Given the description of an element on the screen output the (x, y) to click on. 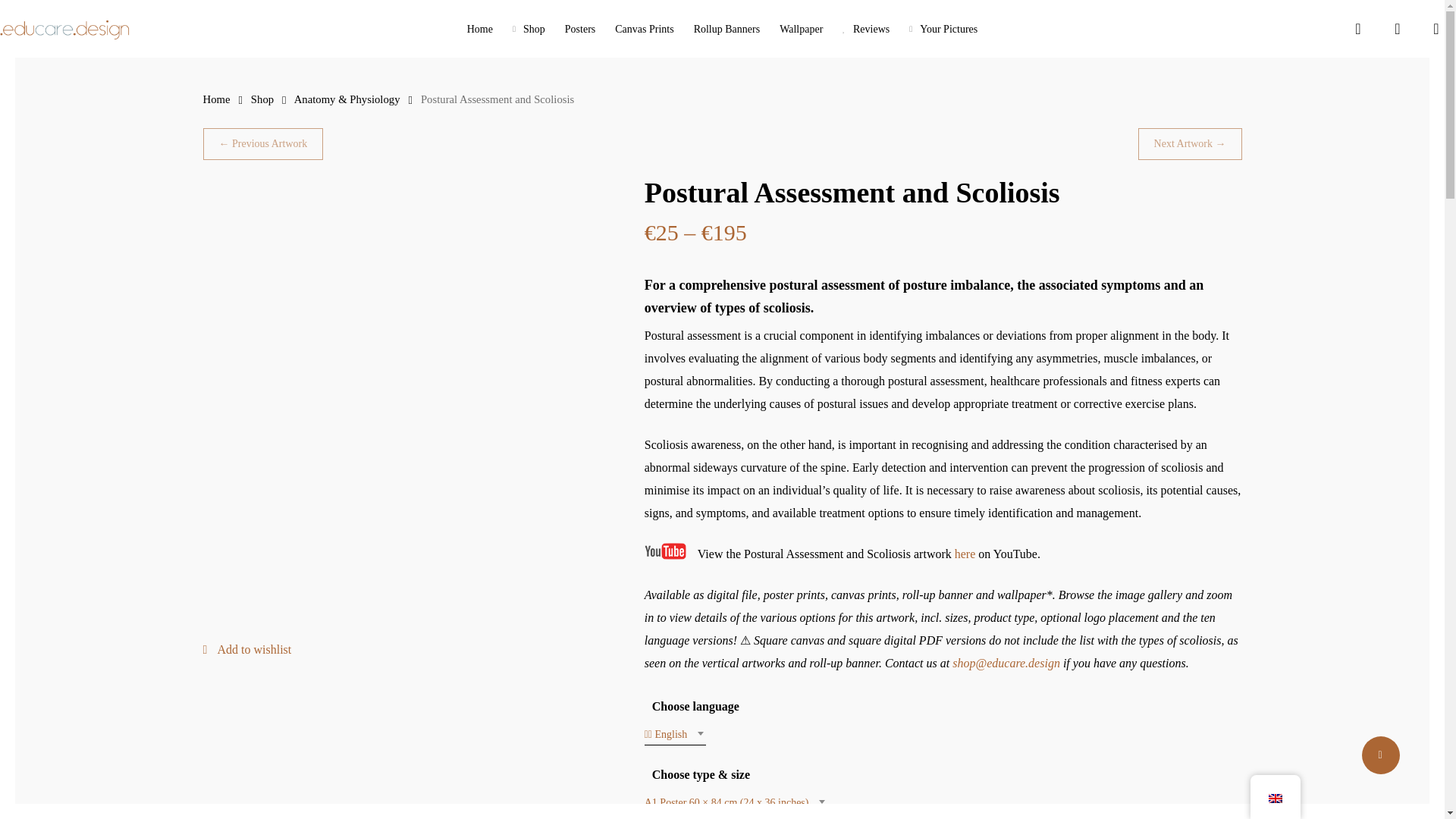
Your Pictures (943, 28)
Posters (579, 28)
Wallpaper (801, 28)
Reviews (865, 28)
Home (216, 99)
Add to wishlist (247, 649)
Rollup Banners (727, 28)
account (1397, 28)
Shop (261, 99)
Home (479, 28)
